Given the description of an element on the screen output the (x, y) to click on. 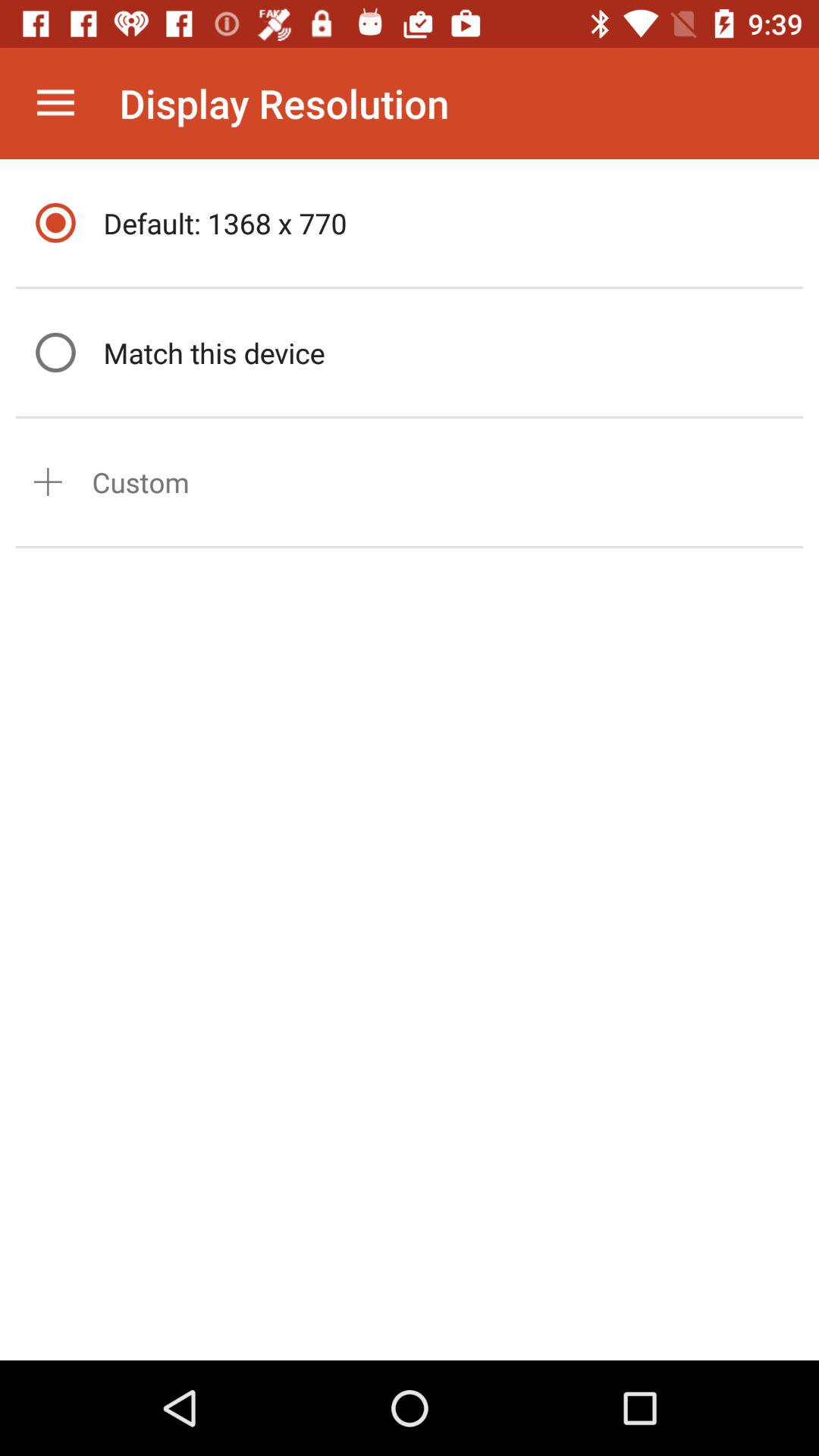
press default 1368 x icon (449, 222)
